Given the description of an element on the screen output the (x, y) to click on. 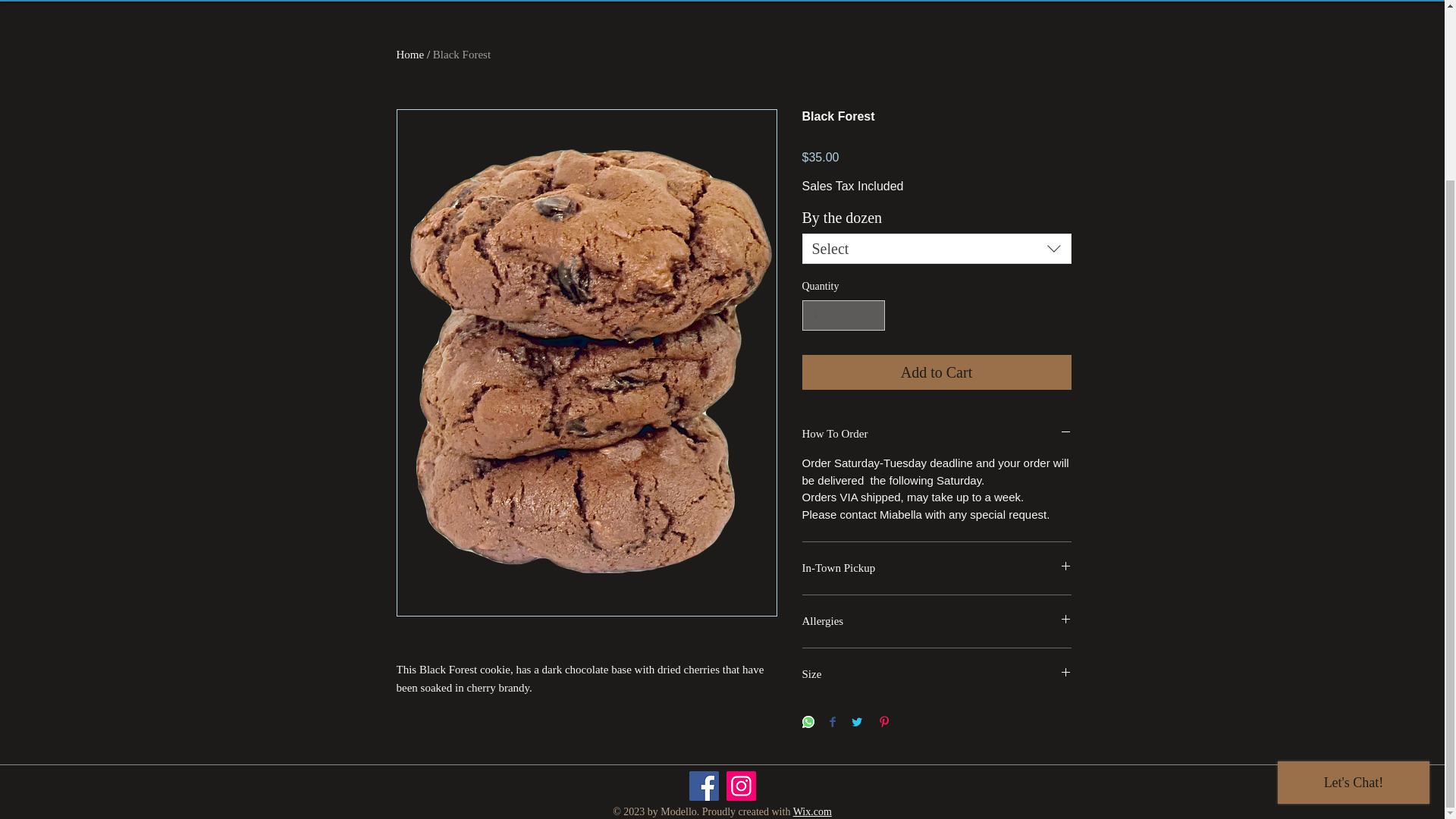
Home (409, 54)
Wix.com (812, 811)
Allergies (936, 621)
1 (843, 315)
Add to Cart (936, 371)
How To Order (936, 433)
Size (936, 674)
Black Forest (461, 54)
Select (936, 248)
In-Town Pickup (936, 568)
